Given the description of an element on the screen output the (x, y) to click on. 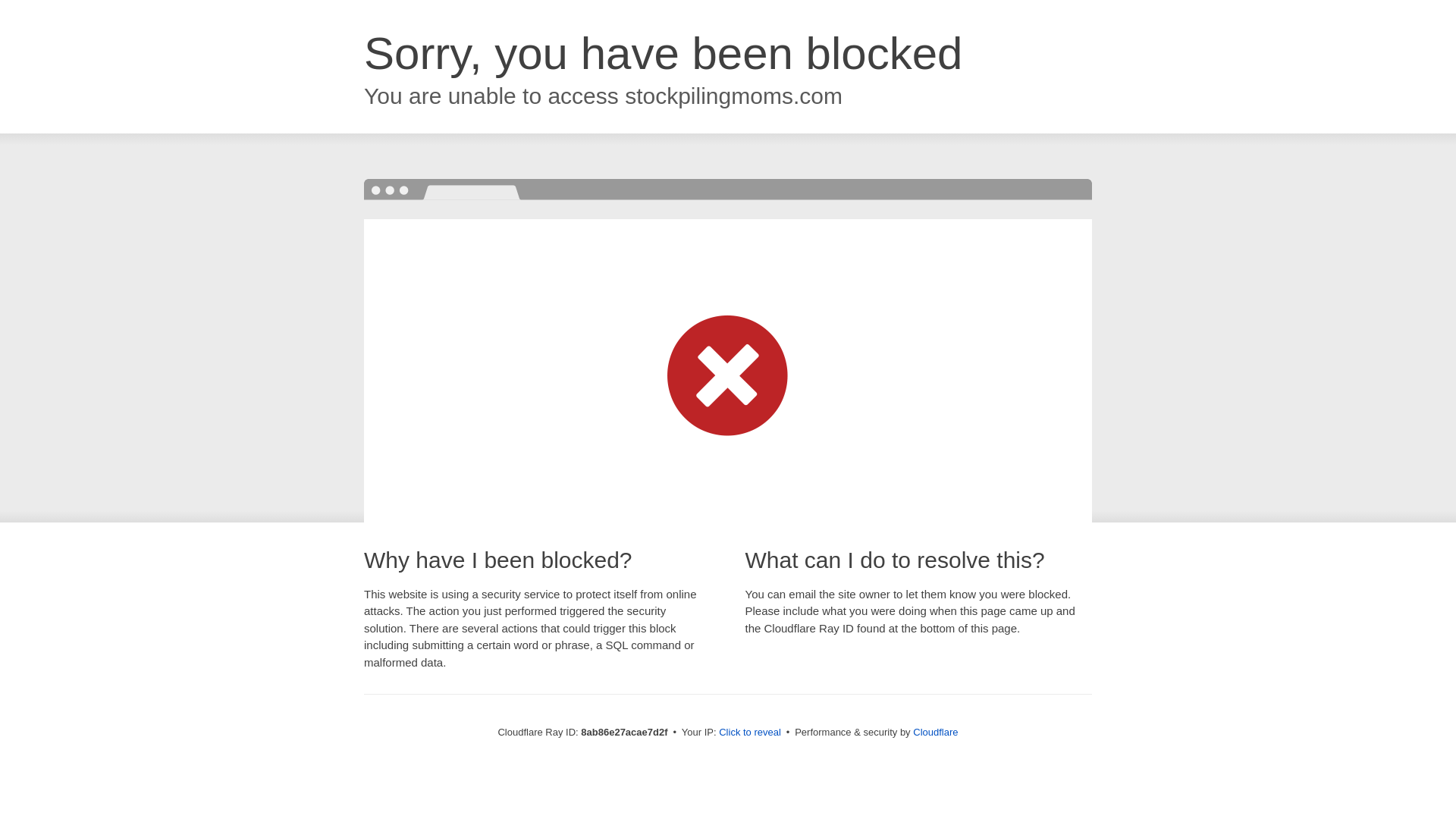
Cloudflare (935, 731)
Click to reveal (749, 732)
